Given the description of an element on the screen output the (x, y) to click on. 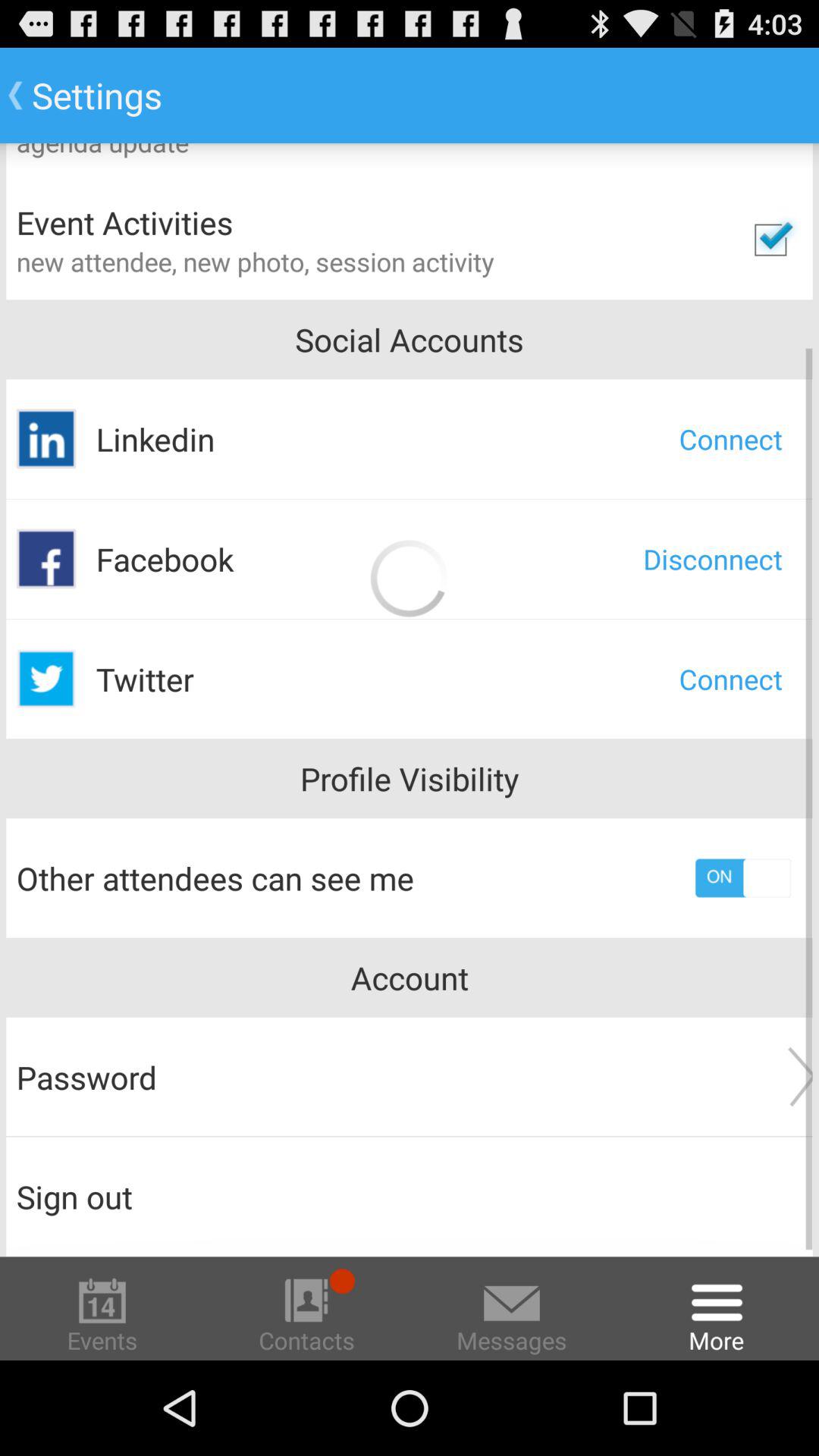
choose item to the right of the other attendees can icon (742, 877)
